Given the description of an element on the screen output the (x, y) to click on. 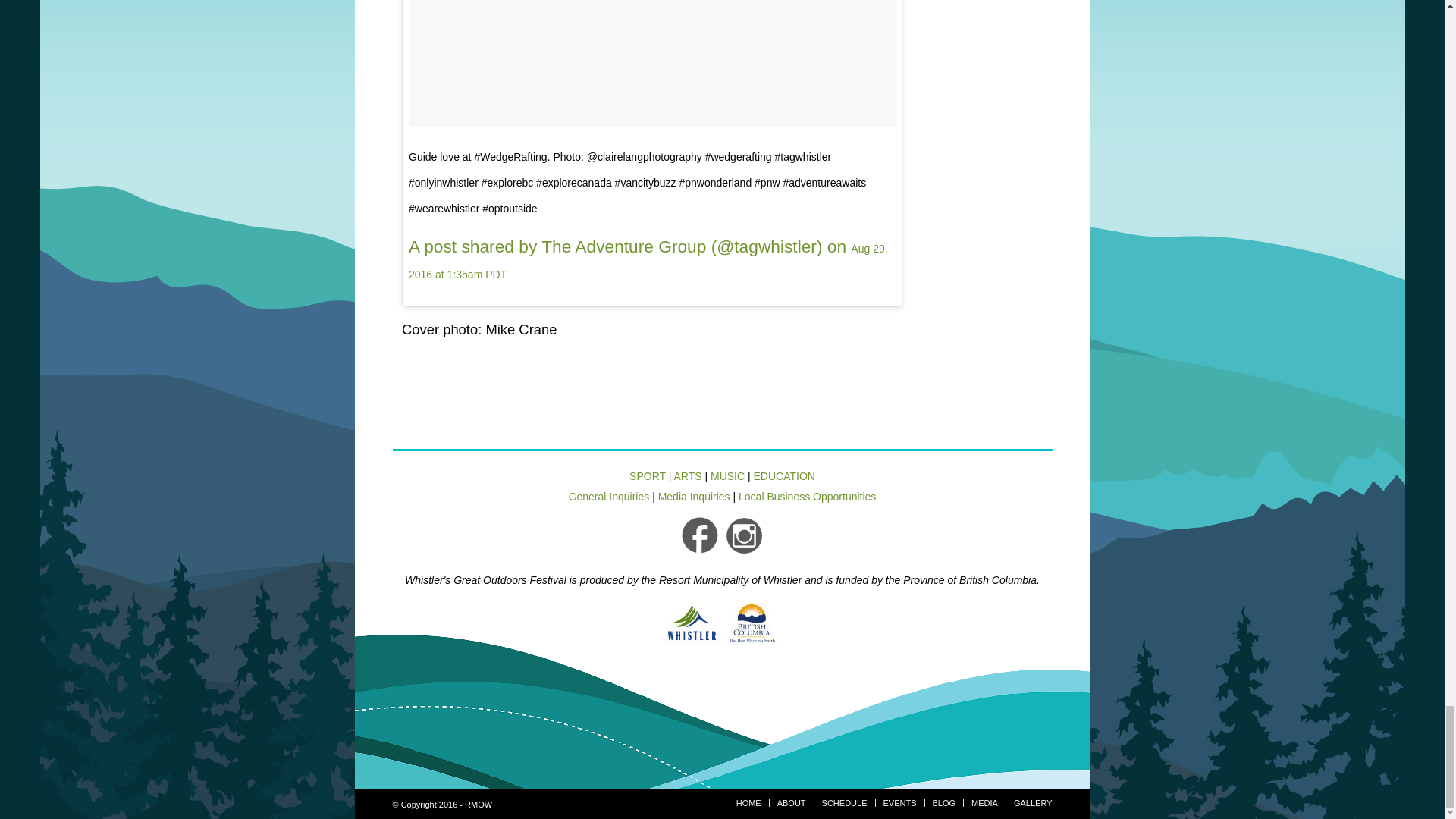
SPORT (646, 476)
Media Inquiries (694, 496)
General Inquiries (609, 496)
ARTS (686, 476)
